Given the description of an element on the screen output the (x, y) to click on. 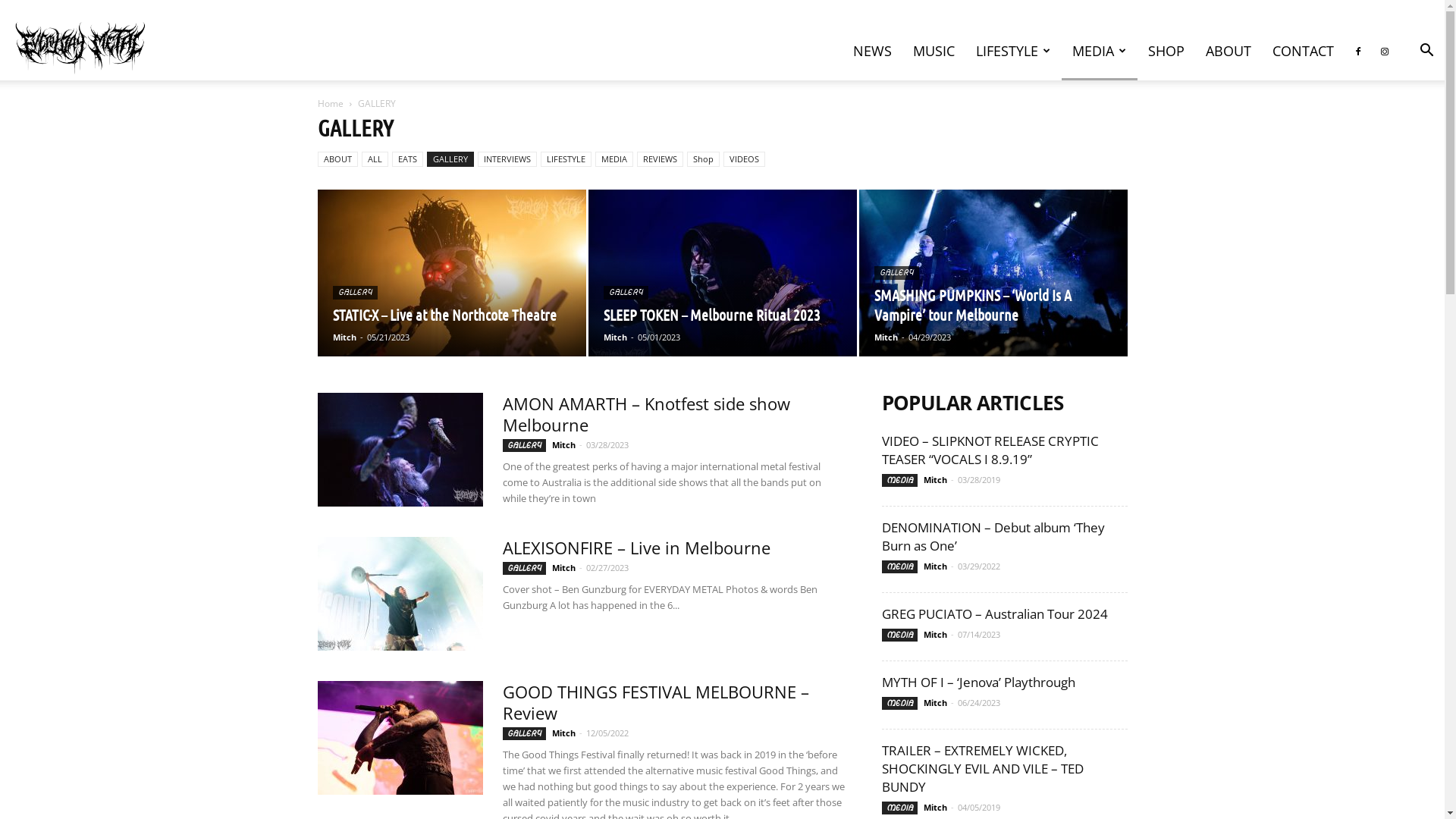
MEDIA Element type: text (613, 158)
VIDEOS Element type: text (744, 158)
Mitch Element type: text (563, 444)
GALLERY Element type: text (523, 445)
Mitch Element type: text (935, 702)
SHOP Element type: text (1166, 50)
GALLERY Element type: text (895, 272)
MEDIA Element type: text (1099, 50)
REVIEWS Element type: text (660, 158)
MEDIA Element type: text (898, 702)
GALLERY Element type: text (625, 292)
MEDIA Element type: text (898, 566)
Mitch Element type: text (935, 634)
EATS Element type: text (406, 158)
Mitch Element type: text (935, 806)
Instagram Element type: hover (1384, 50)
MEDIA Element type: text (898, 634)
Mitch Element type: text (935, 479)
MUSIC Element type: text (933, 50)
GALLERY Element type: text (523, 567)
GALLERY Element type: text (523, 733)
Everyday Metal Element type: text (80, 39)
GALLERY Element type: text (354, 292)
Mitch Element type: text (563, 567)
MEDIA Element type: text (898, 479)
NEWS Element type: text (872, 50)
Mitch Element type: text (563, 732)
ABOUT Element type: text (1228, 50)
MEDIA Element type: text (898, 807)
Search Element type: text (1394, 122)
ABOUT Element type: text (336, 158)
INTERVIEWS Element type: text (506, 158)
LIFESTYLE Element type: text (564, 158)
CONTACT Element type: text (1302, 50)
Facebook Element type: hover (1357, 50)
Mitch Element type: text (343, 336)
GALLERY Element type: text (449, 158)
Mitch Element type: text (885, 336)
Shop Element type: text (703, 158)
Home Element type: text (329, 103)
ALL Element type: text (373, 158)
Mitch Element type: text (935, 565)
Mitch Element type: text (615, 336)
LIFESTYLE Element type: text (1013, 50)
